Given the description of an element on the screen output the (x, y) to click on. 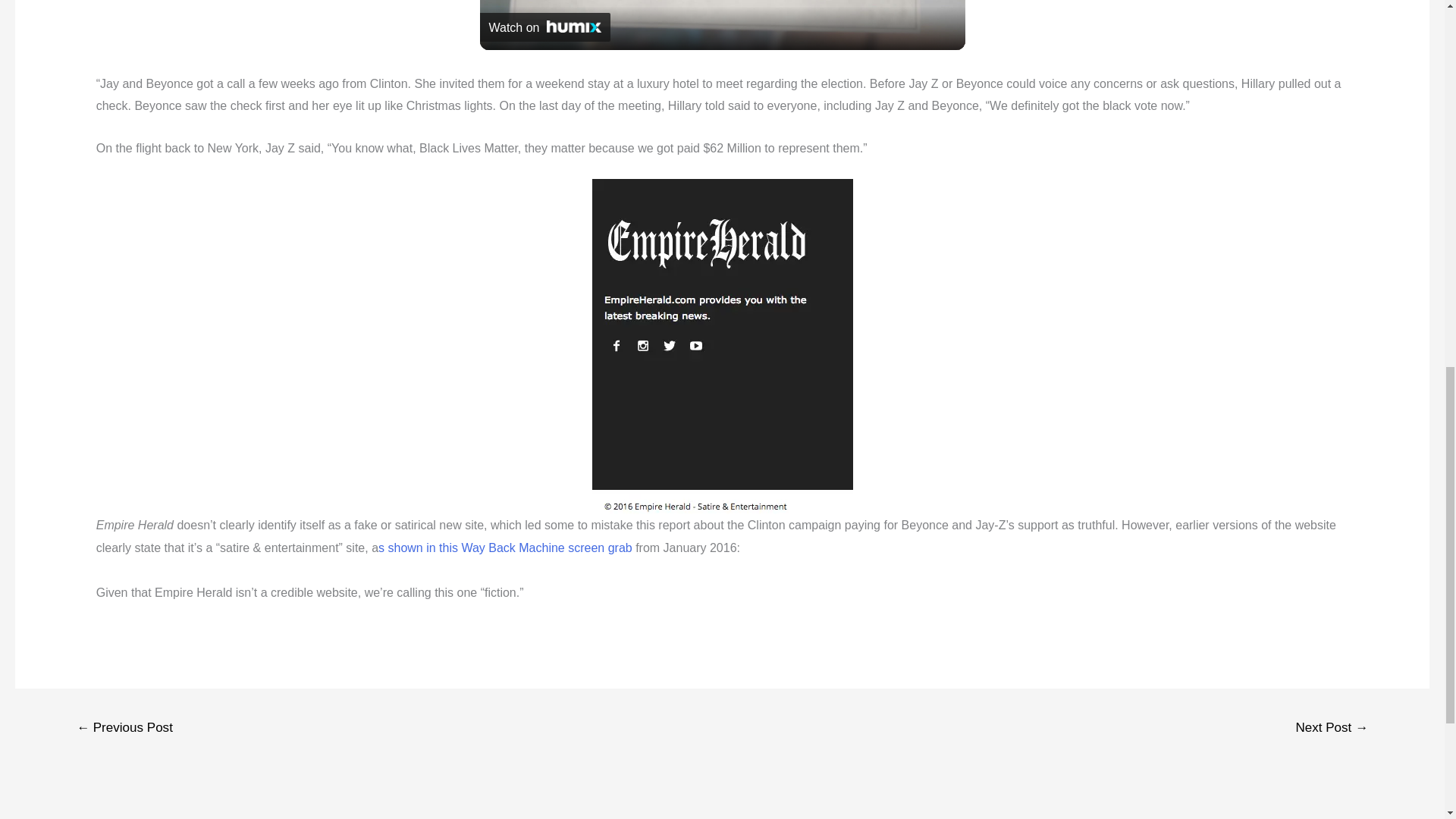
s shown in this Way Back Machine screen grab (504, 547)
Watch on (544, 27)
